Given the description of an element on the screen output the (x, y) to click on. 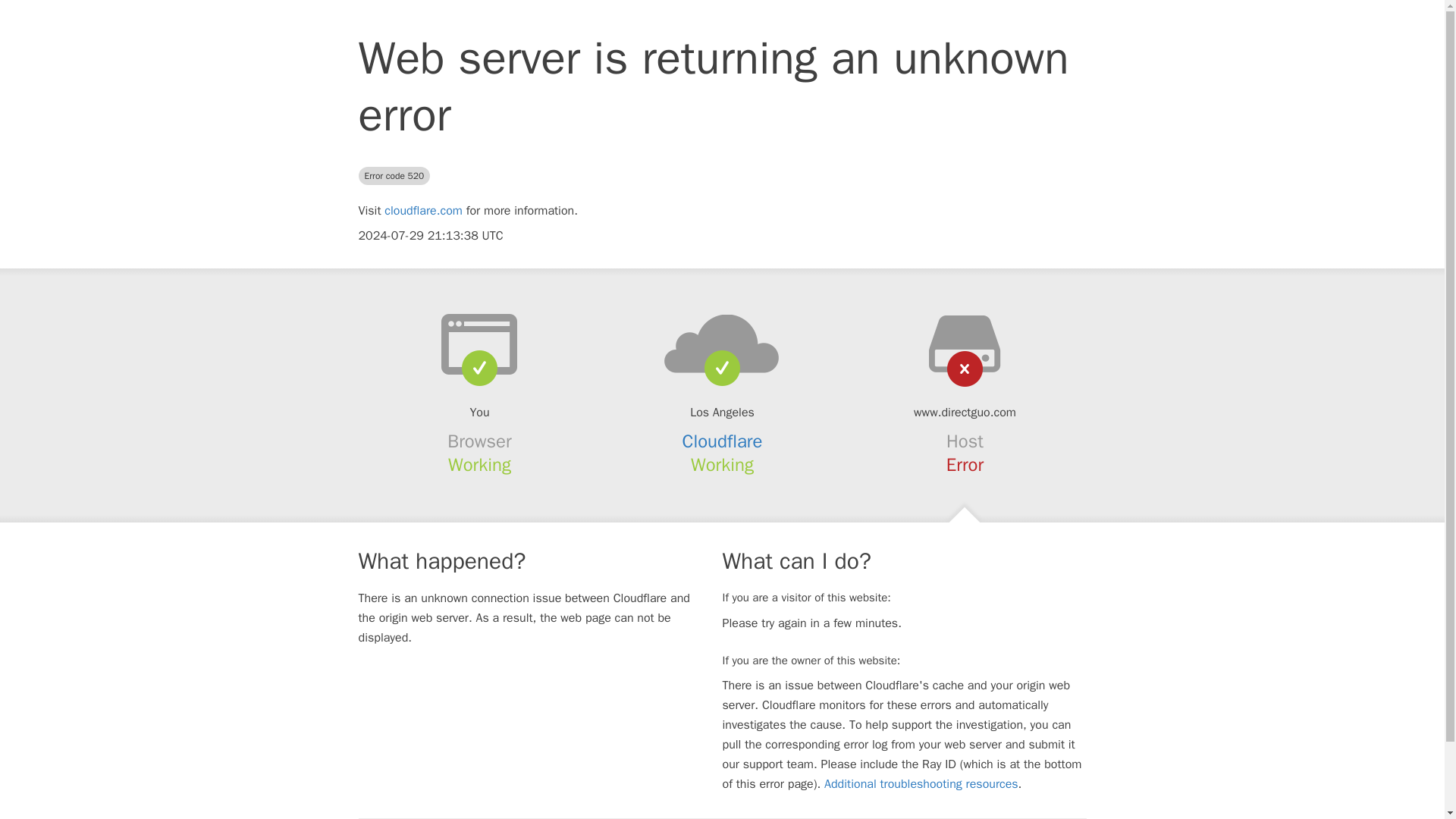
Cloudflare (722, 440)
cloudflare.com (423, 210)
Additional troubleshooting resources (920, 783)
